Given the description of an element on the screen output the (x, y) to click on. 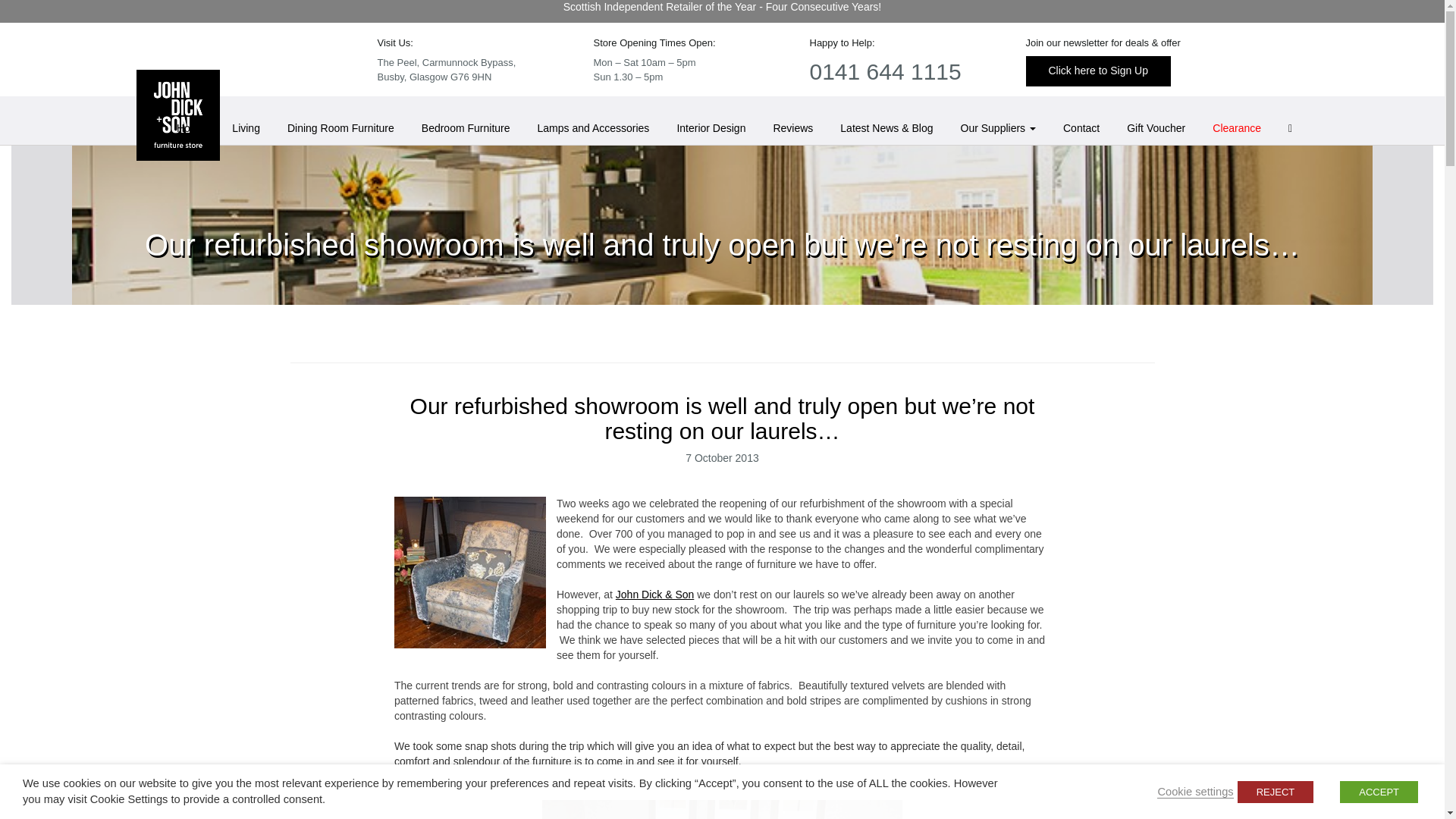
Lamps and Accessories (593, 127)
Home (190, 127)
Reviews (792, 127)
Dining Room Furniture (340, 127)
Gift Voucher (1156, 127)
Reviews (792, 127)
Our Suppliers (997, 127)
Dining Room Furniture (340, 127)
Living (245, 127)
Bedroom Furniture (465, 127)
